Given the description of an element on the screen output the (x, y) to click on. 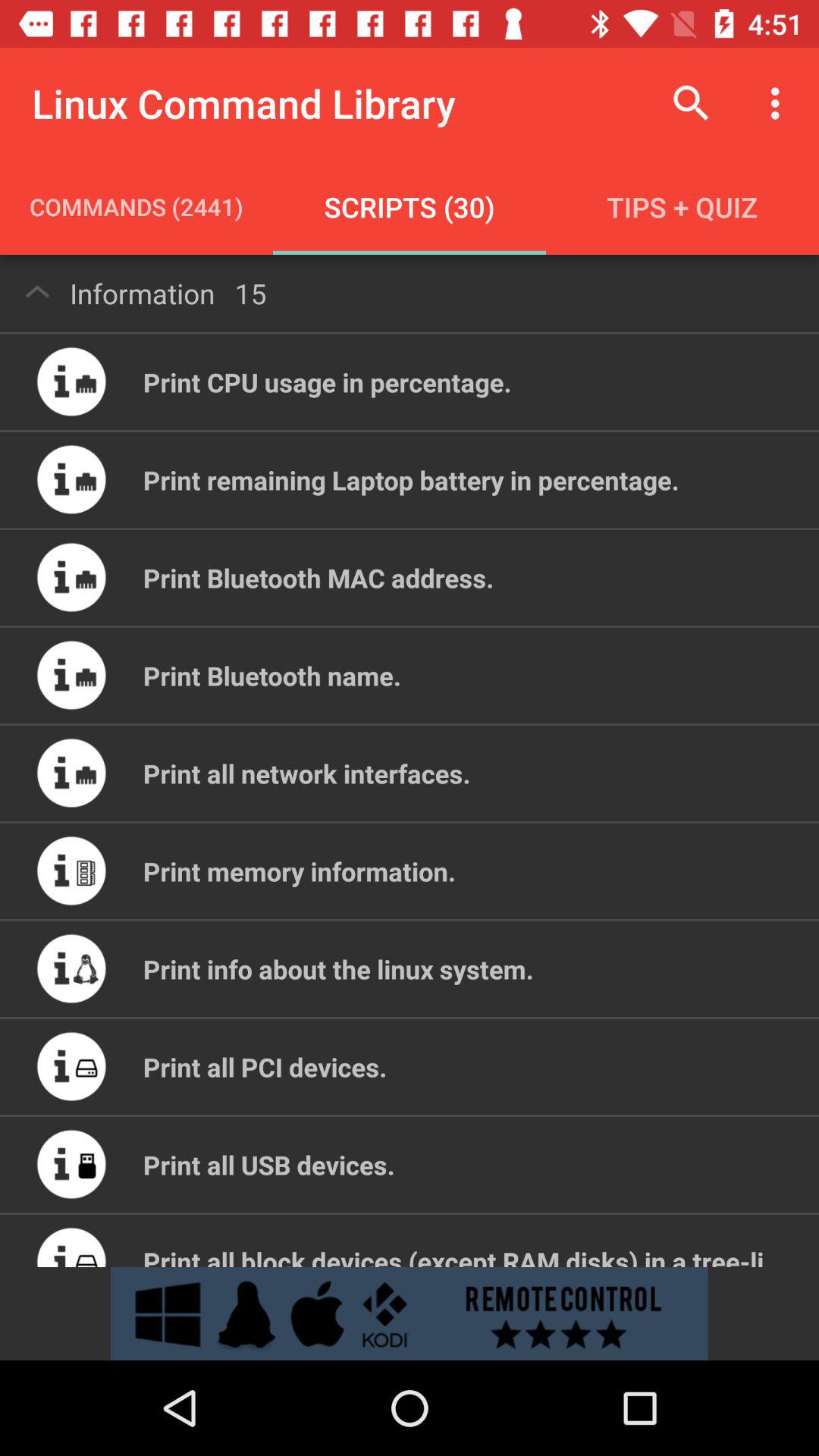
open advertisement (409, 1313)
